Given the description of an element on the screen output the (x, y) to click on. 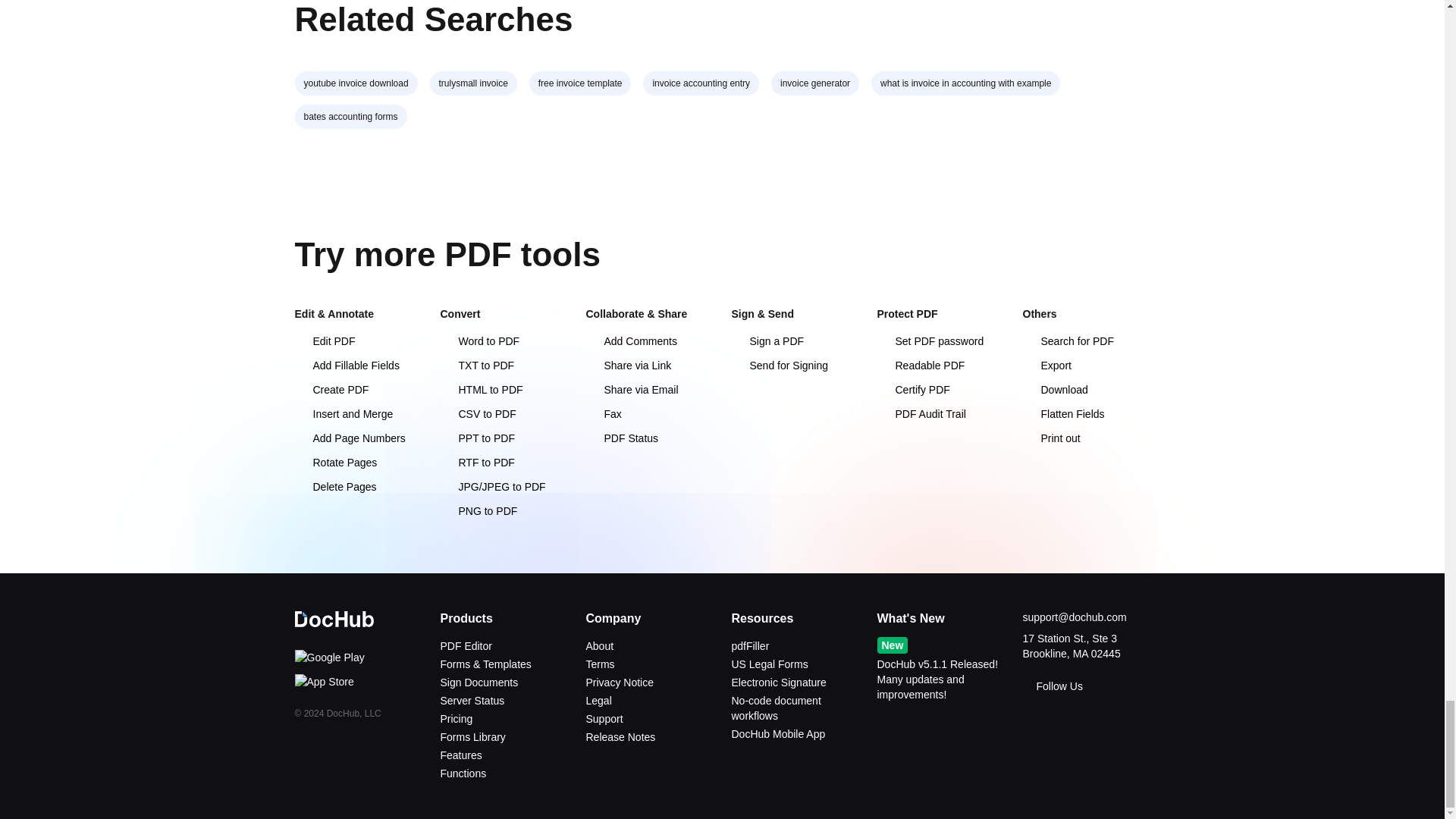
Share via Link (628, 365)
HTML to PDF (480, 389)
TXT to PDF (476, 365)
Insert and Merge (343, 413)
Add Page Numbers (349, 438)
Word to PDF (479, 340)
Add Comments (631, 340)
Create PDF (331, 389)
PNG to PDF (477, 510)
Fax (603, 413)
